Given the description of an element on the screen output the (x, y) to click on. 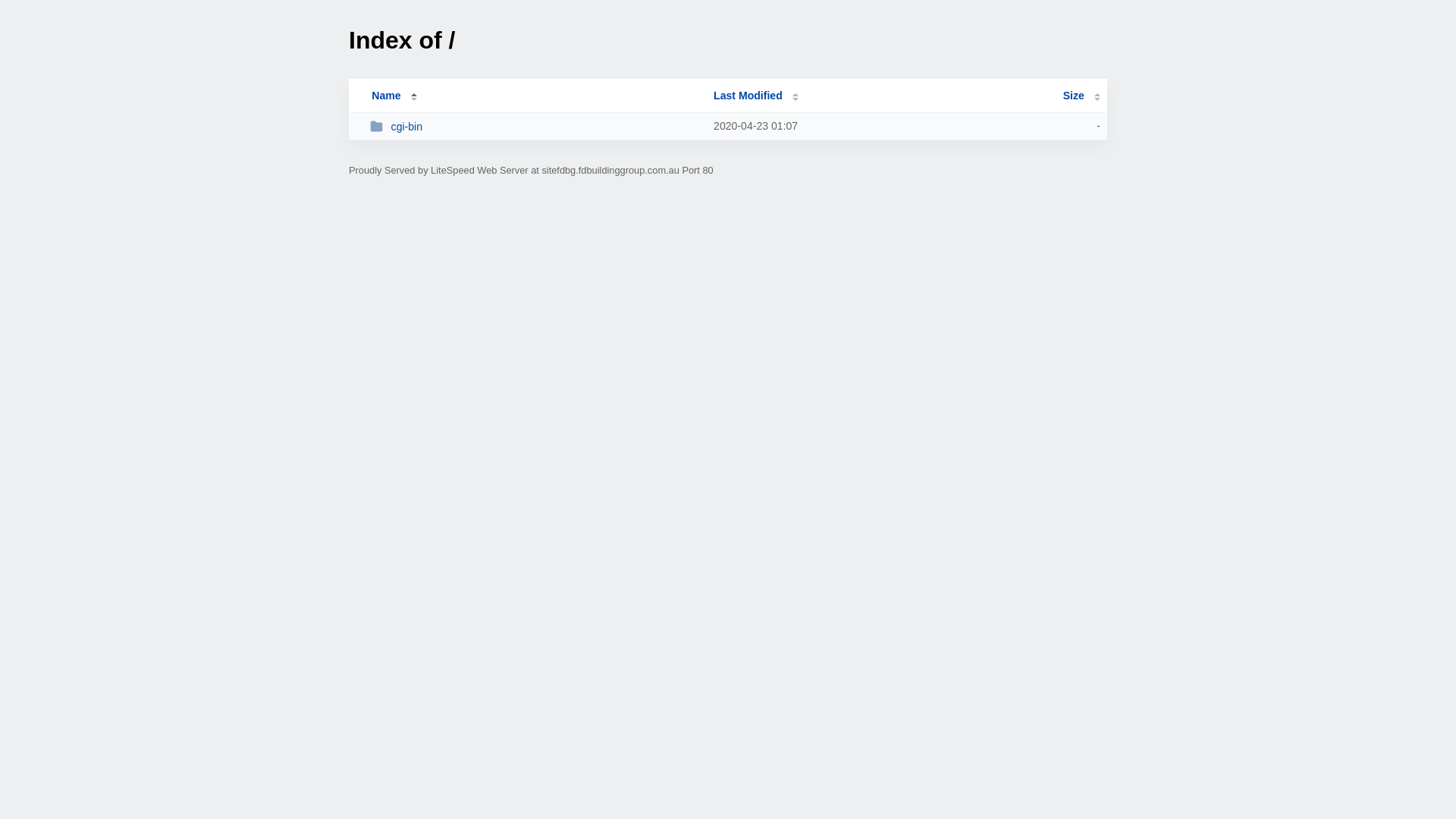
Last Modified Element type: text (755, 95)
cgi-bin Element type: text (534, 125)
Size Element type: text (1081, 95)
Name Element type: text (385, 95)
